Given the description of an element on the screen output the (x, y) to click on. 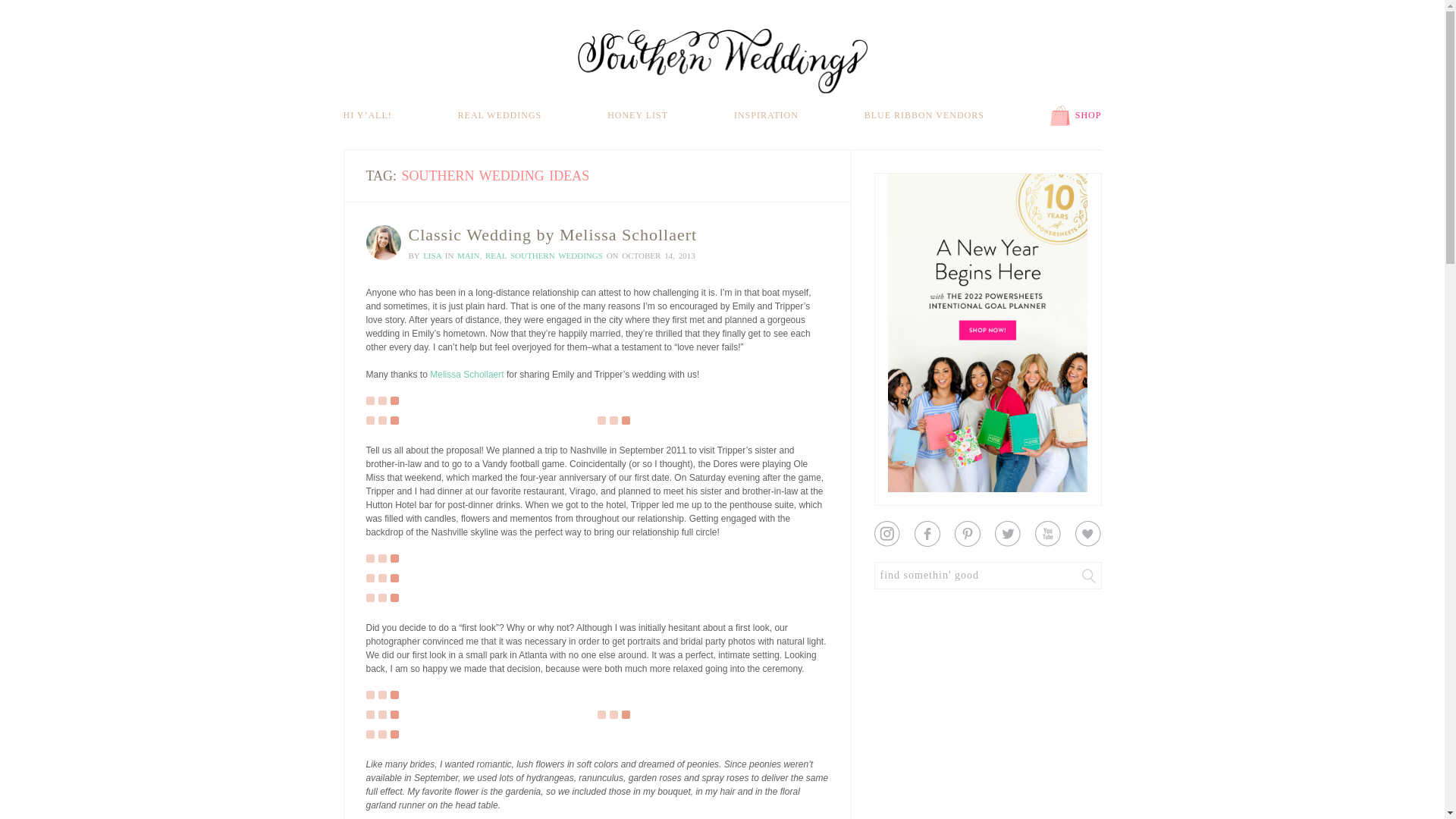
Search (1088, 575)
SHOP (1075, 114)
HONEY LIST (637, 114)
INSPIRATION (765, 114)
LISA (432, 255)
Classic Wedding by Melissa Schollaert (552, 234)
BLUE RIBBON VENDORS (924, 114)
Classic Wedding by Melissa Schollaert (552, 234)
Posts by Lisa (432, 255)
SOUTHERN WEDDINGS (722, 60)
Melissa Schollaert (466, 374)
MAIN (468, 255)
REAL SOUTHERN WEDDINGS (543, 255)
REAL WEDDINGS (499, 114)
Search (1088, 575)
